Given the description of an element on the screen output the (x, y) to click on. 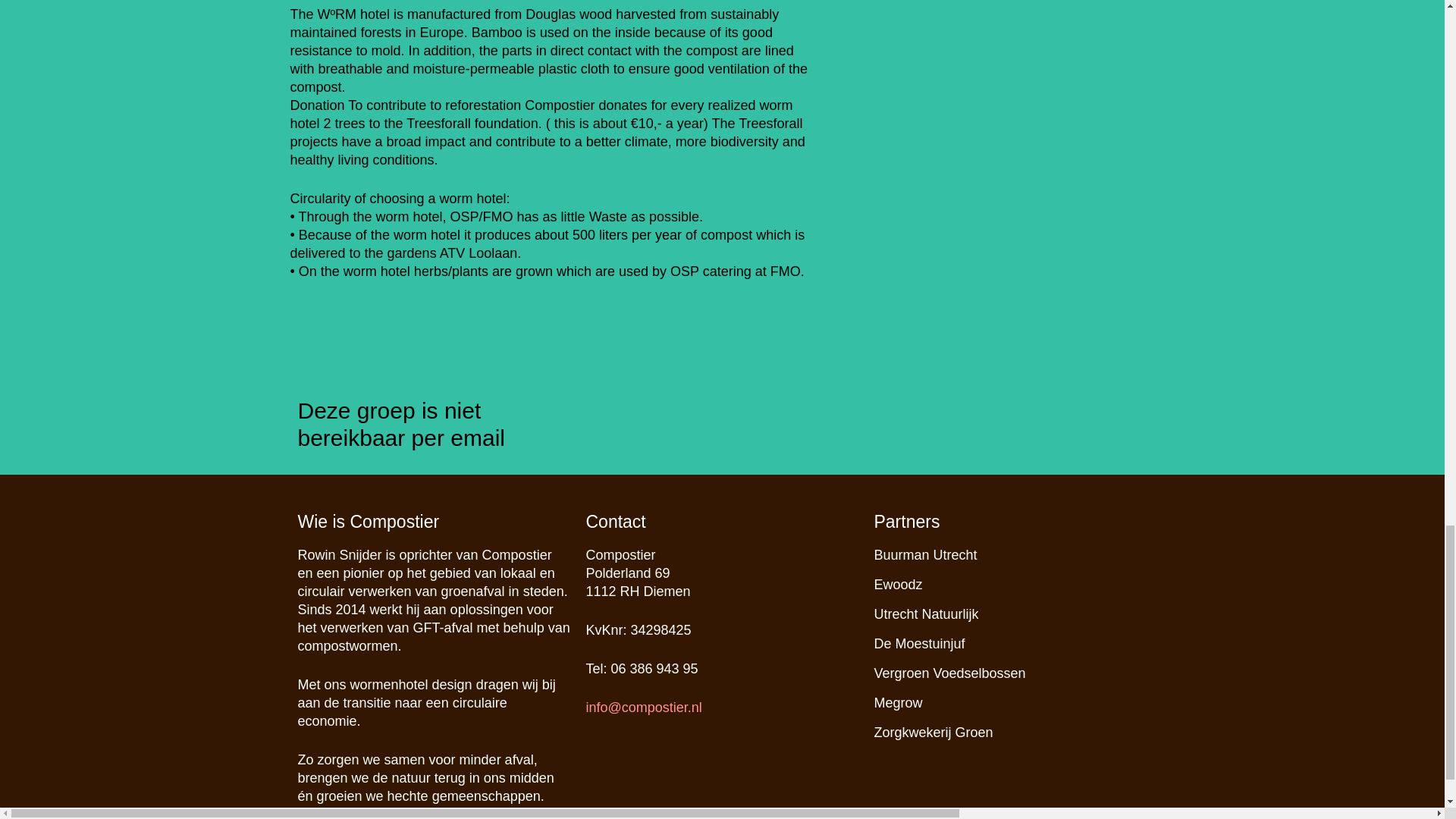
Buurman Utrecht (924, 554)
Megrow (897, 702)
Utrecht Natuurlijk (925, 613)
Zorgkwekerij Groen (932, 732)
Vergroen Voedselbossen (949, 672)
De Moestuinjuf (918, 643)
Ewoodz (897, 584)
